Given the description of an element on the screen output the (x, y) to click on. 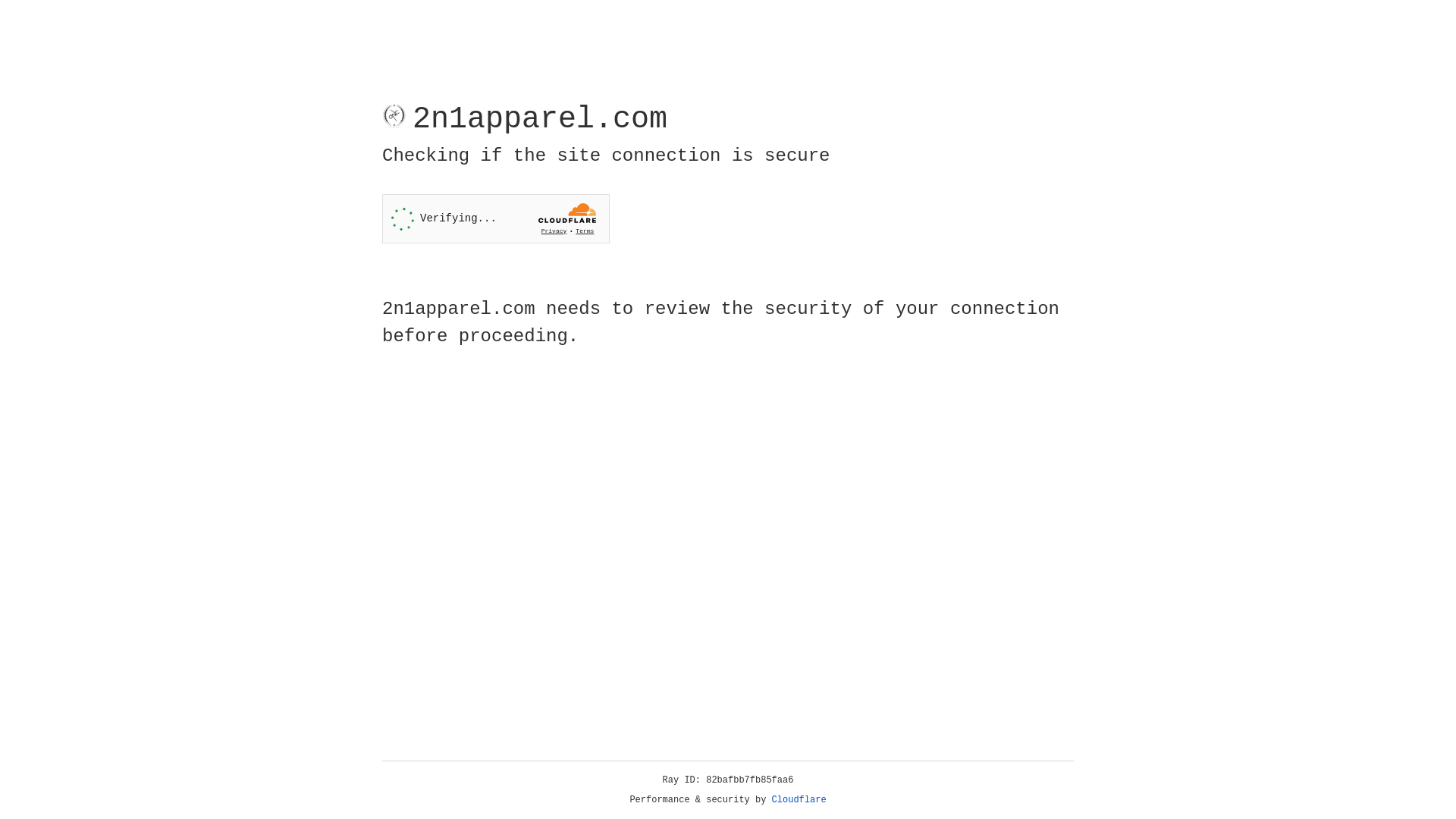
Cloudflare Element type: text (798, 799)
Widget containing a Cloudflare security challenge Element type: hover (495, 218)
